Given the description of an element on the screen output the (x, y) to click on. 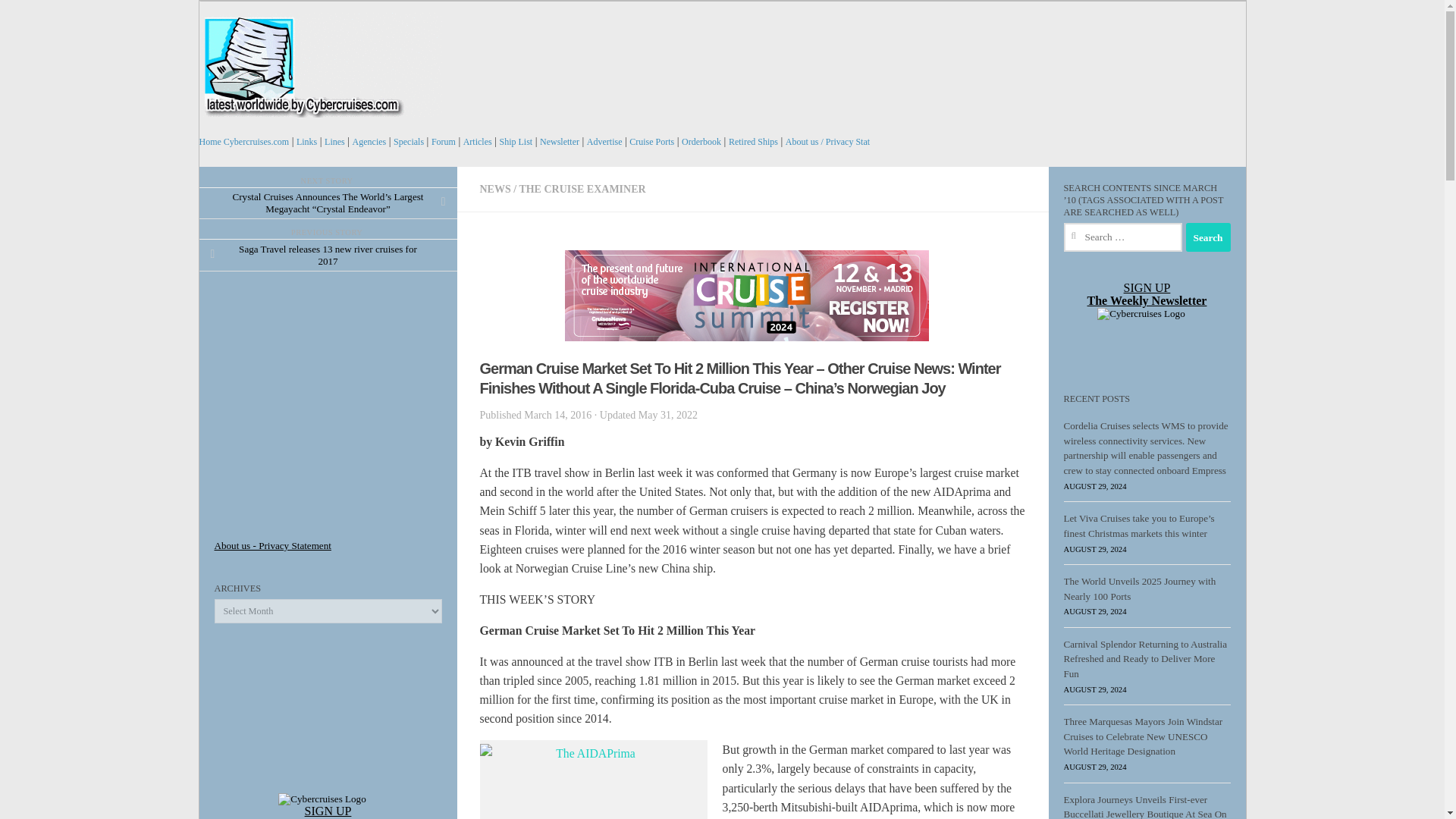
Home Cybercruises.com (243, 141)
Cruise Summit 2024 - Madrid (752, 295)
Ship List (515, 141)
Orderbook (700, 141)
Cruise Ports (651, 141)
Retired Ships (753, 141)
Links (307, 141)
Newsletter (559, 141)
Skip to content (253, 20)
Saga Travel releases 13 new river cruises for 2017 (327, 255)
